Given the description of an element on the screen output the (x, y) to click on. 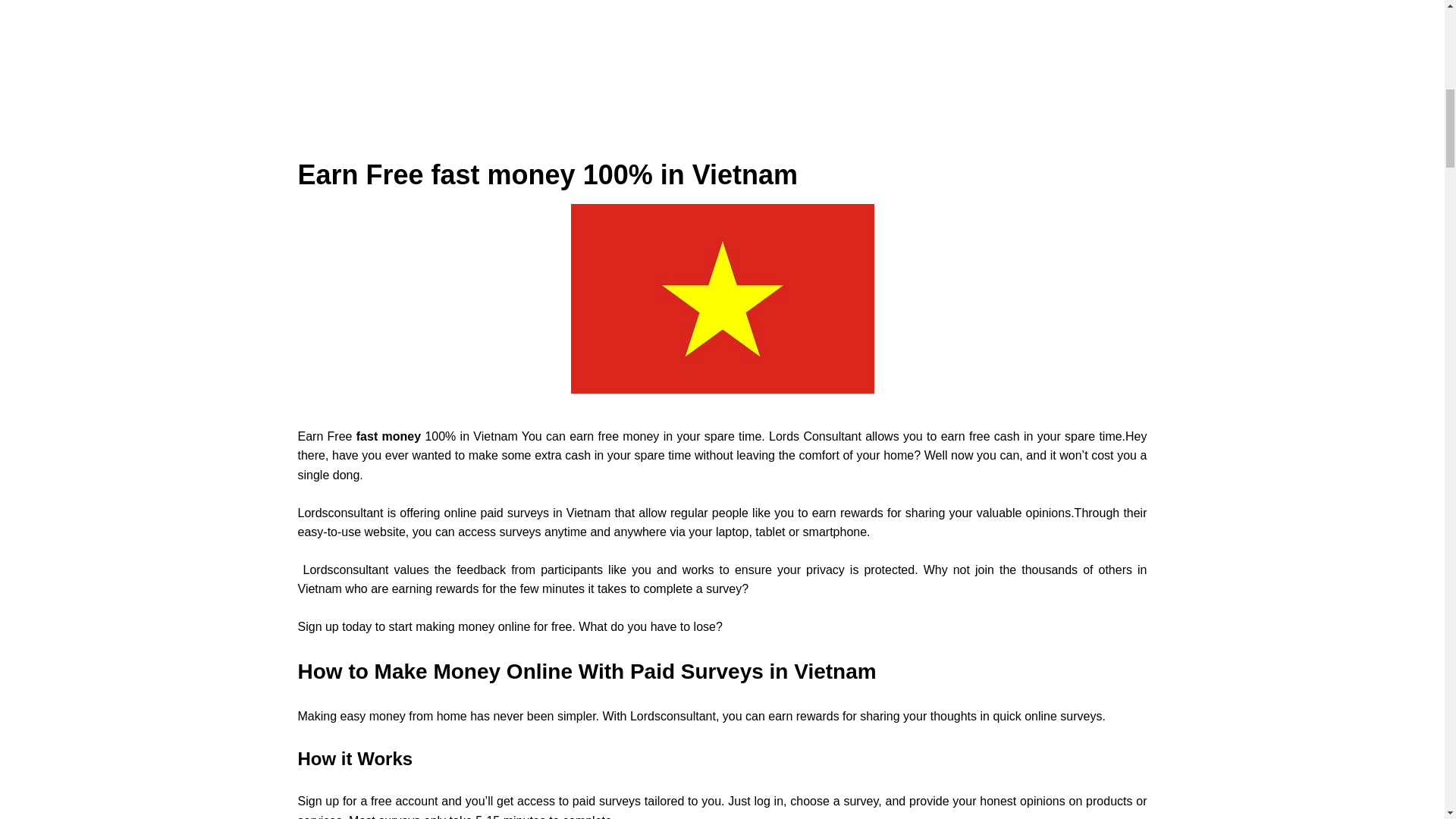
Online Paid Survey Vietnam 1 (721, 298)
